Given the description of an element on the screen output the (x, y) to click on. 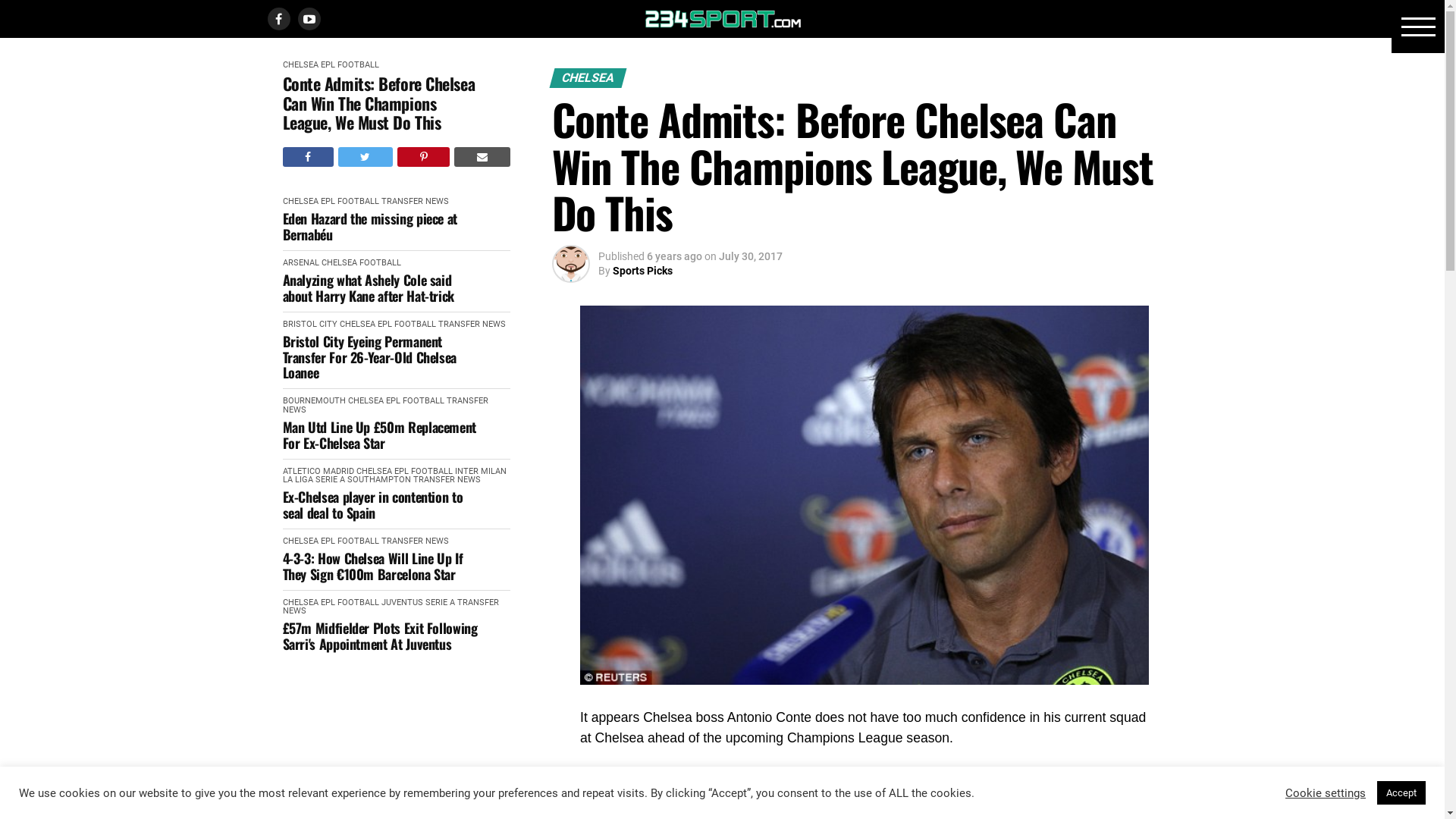
Share on Facebook Element type: hover (307, 156)
Pin This Post Element type: hover (423, 156)
CHELSEA Element type: text (357, 324)
FOOTBALL Element type: text (415, 324)
ARSENAL Element type: text (300, 262)
LA LIGA Element type: text (297, 479)
INTER MILAN Element type: text (480, 471)
EPL Element type: text (327, 201)
SERIE A Element type: text (439, 602)
SOUTHAMPTON Element type: text (379, 479)
TRANSFER NEWS Element type: text (390, 606)
TRANSFER NEWS Element type: text (414, 201)
Ex-Chelsea player in contention to seal deal to Spain Element type: text (380, 504)
JUVENTUS Element type: text (401, 602)
CHELSEA Element type: text (339, 262)
Sports Picks Element type: text (642, 270)
Accept Element type: text (1401, 792)
FOOTBALL Element type: text (357, 602)
EPL Element type: text (327, 541)
FOOTBALL Element type: text (357, 64)
TRANSFER NEWS Element type: text (446, 479)
TRANSFER NEWS Element type: text (384, 404)
FOOTBALL Element type: text (357, 201)
EPL Element type: text (401, 471)
EPL Element type: text (327, 64)
Tweet This Post Element type: hover (365, 156)
TRANSFER NEWS Element type: text (414, 541)
TRANSFER NEWS Element type: text (471, 324)
FOOTBALL Element type: text (357, 541)
CHELSEA Element type: text (374, 471)
BRISTOL CITY Element type: text (309, 324)
CHELSEA Element type: text (299, 602)
FOOTBALL Element type: text (422, 400)
ATLETICO MADRID Element type: text (317, 471)
BOURNEMOUTH Element type: text (313, 400)
CHELSEA Element type: text (299, 201)
EPL Element type: text (392, 400)
EPL Element type: text (384, 324)
FOOTBALL Element type: text (431, 471)
SERIE A Element type: text (330, 479)
Cookie settings Element type: text (1325, 792)
FOOTBALL Element type: text (380, 262)
EPL Element type: text (327, 602)
CHELSEA Element type: text (299, 64)
CHELSEA Element type: text (299, 541)
CHELSEA Element type: text (364, 400)
